Given the description of an element on the screen output the (x, y) to click on. 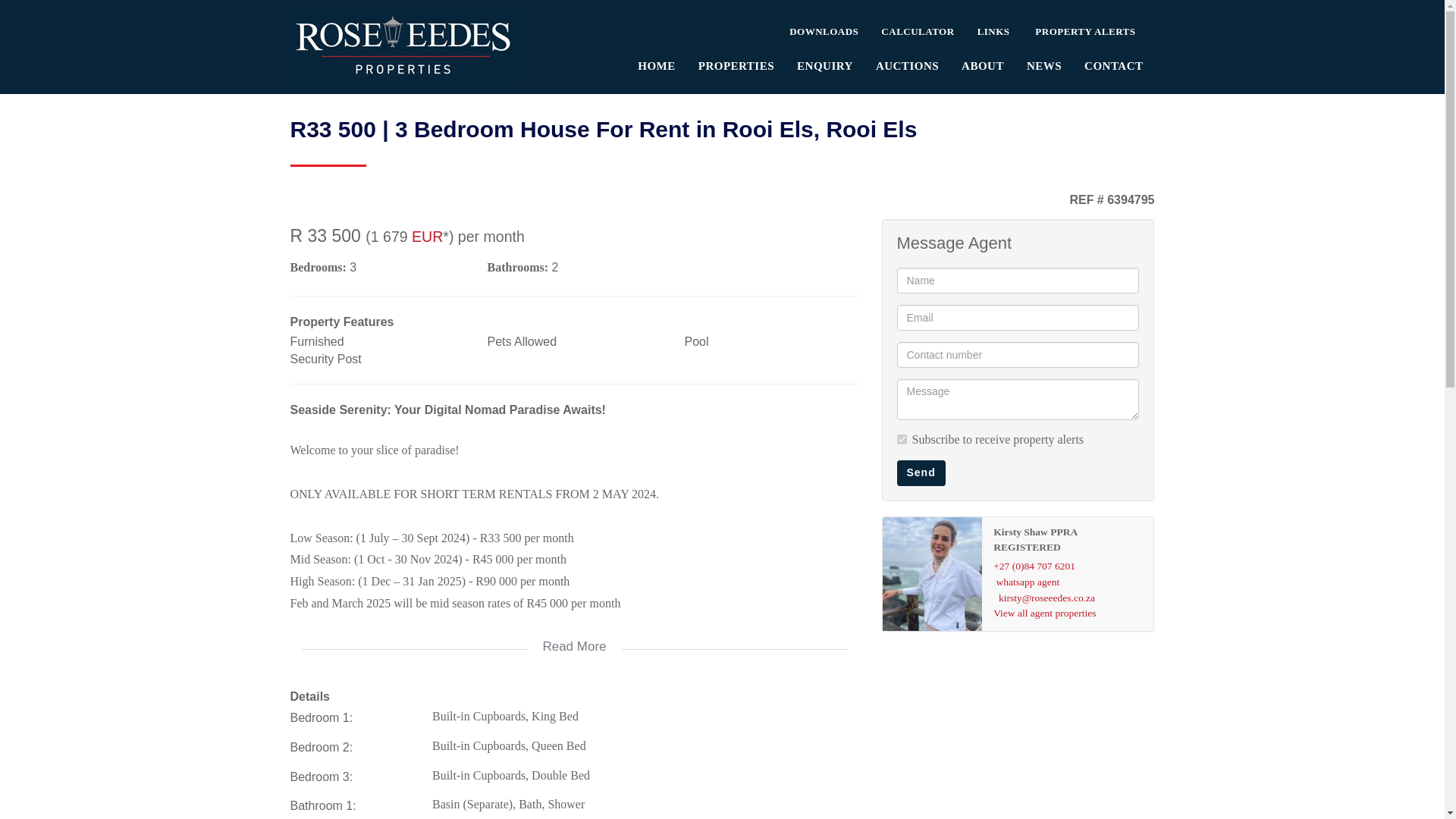
AUCTIONS (907, 63)
NEWS (1043, 63)
HOME (656, 63)
ENQUIRY (825, 63)
Read More (574, 636)
CONTACT (1113, 63)
ABOUT (982, 63)
CALCULATOR (917, 29)
on (900, 439)
LINKS (994, 29)
DOWNLOADS (823, 29)
Rose Eedes, Estate Agency Logo (402, 46)
PROPERTIES (736, 63)
 PROPERTY ALERTS (1084, 29)
